Given the description of an element on the screen output the (x, y) to click on. 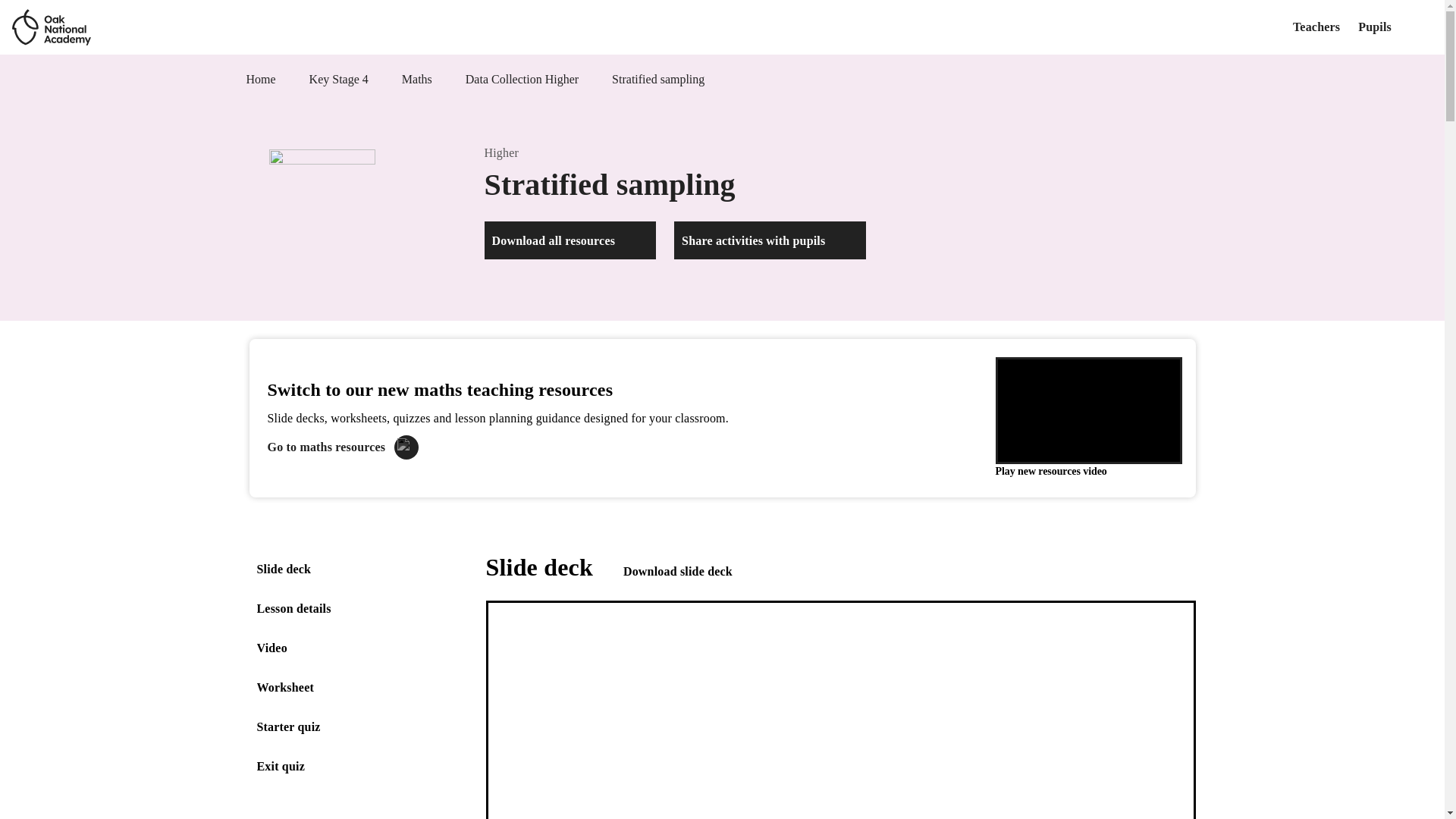
Download all resources (569, 240)
Share activities with pupils (770, 240)
Home (260, 78)
Go to maths resources (342, 446)
Video (271, 647)
Pupils (1374, 27)
Teachers (1315, 27)
Key Stage 4 (338, 78)
Oak National Academy (50, 27)
Slide deck (283, 568)
